Given the description of an element on the screen output the (x, y) to click on. 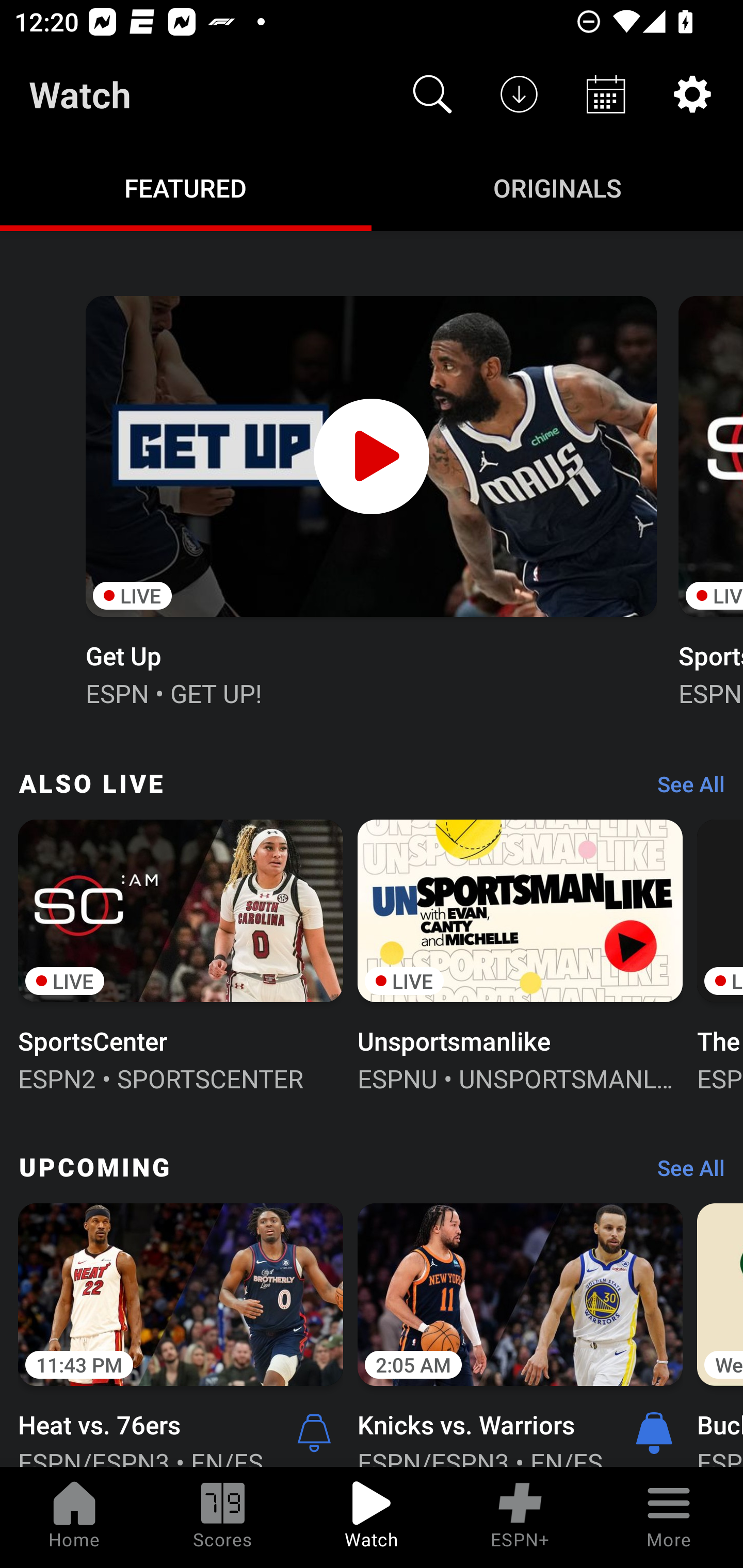
Search (432, 93)
Downloads (518, 93)
Schedule (605, 93)
Settings (692, 93)
Originals ORIGINALS (557, 187)
 LIVE Get Up ESPN • GET UP! (370, 499)
See All (683, 788)
LIVE SportsCenter ESPN2 • SPORTSCENTER (180, 954)
See All (683, 1172)
Alerts (314, 1432)
Home (74, 1517)
Scores (222, 1517)
ESPN+ (519, 1517)
More (668, 1517)
